Given the description of an element on the screen output the (x, y) to click on. 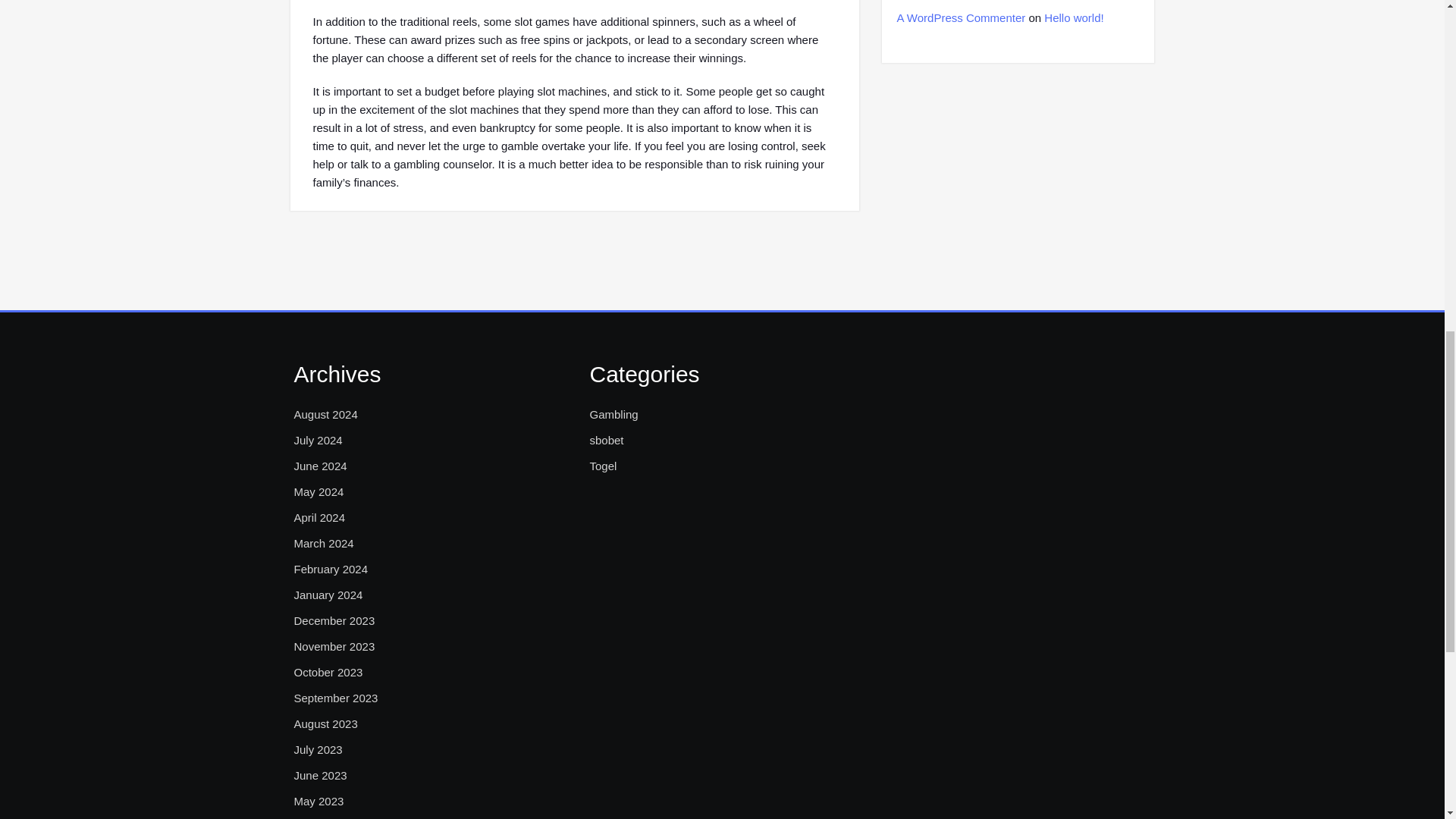
June 2024 (320, 466)
A WordPress Commenter (960, 17)
September 2023 (336, 698)
April 2024 (320, 517)
October 2023 (328, 672)
August 2023 (326, 723)
July 2024 (318, 440)
February 2024 (331, 569)
March 2024 (323, 543)
June 2023 (320, 775)
